Given the description of an element on the screen output the (x, y) to click on. 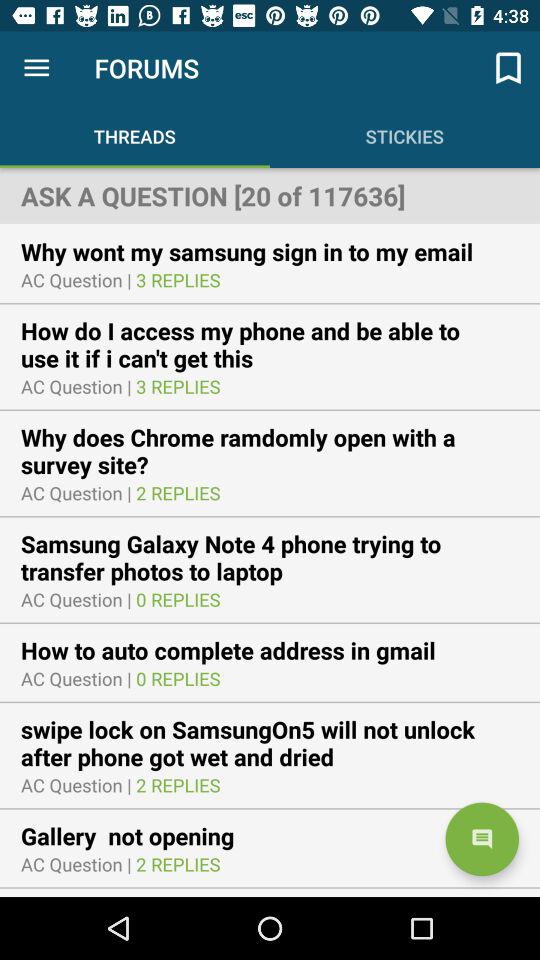
click the item above why wont my icon (270, 195)
